Given the description of an element on the screen output the (x, y) to click on. 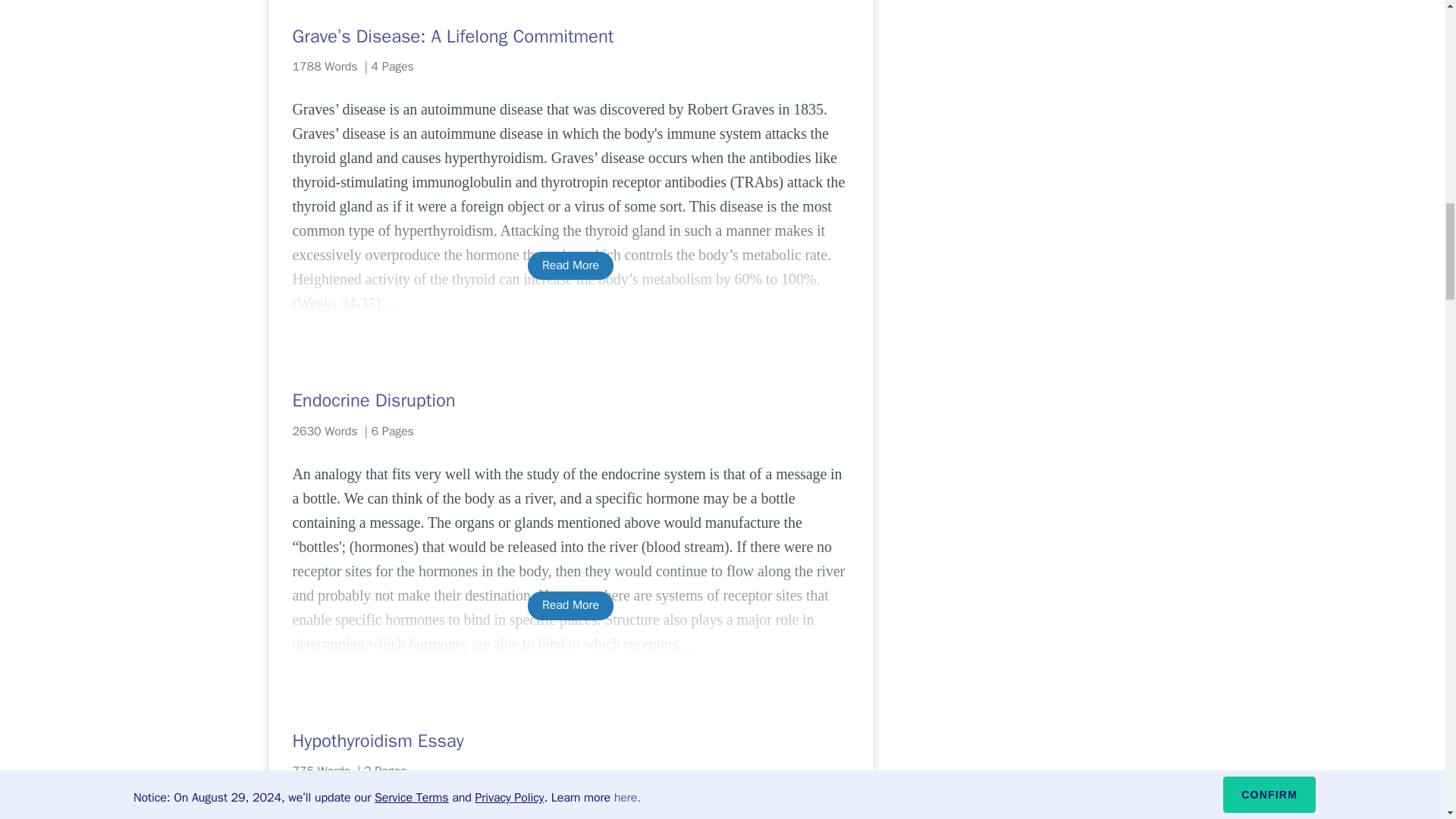
Hypothyroidism Essay (570, 740)
Read More (569, 605)
Endocrine Disruption (570, 400)
Read More (569, 265)
